Given the description of an element on the screen output the (x, y) to click on. 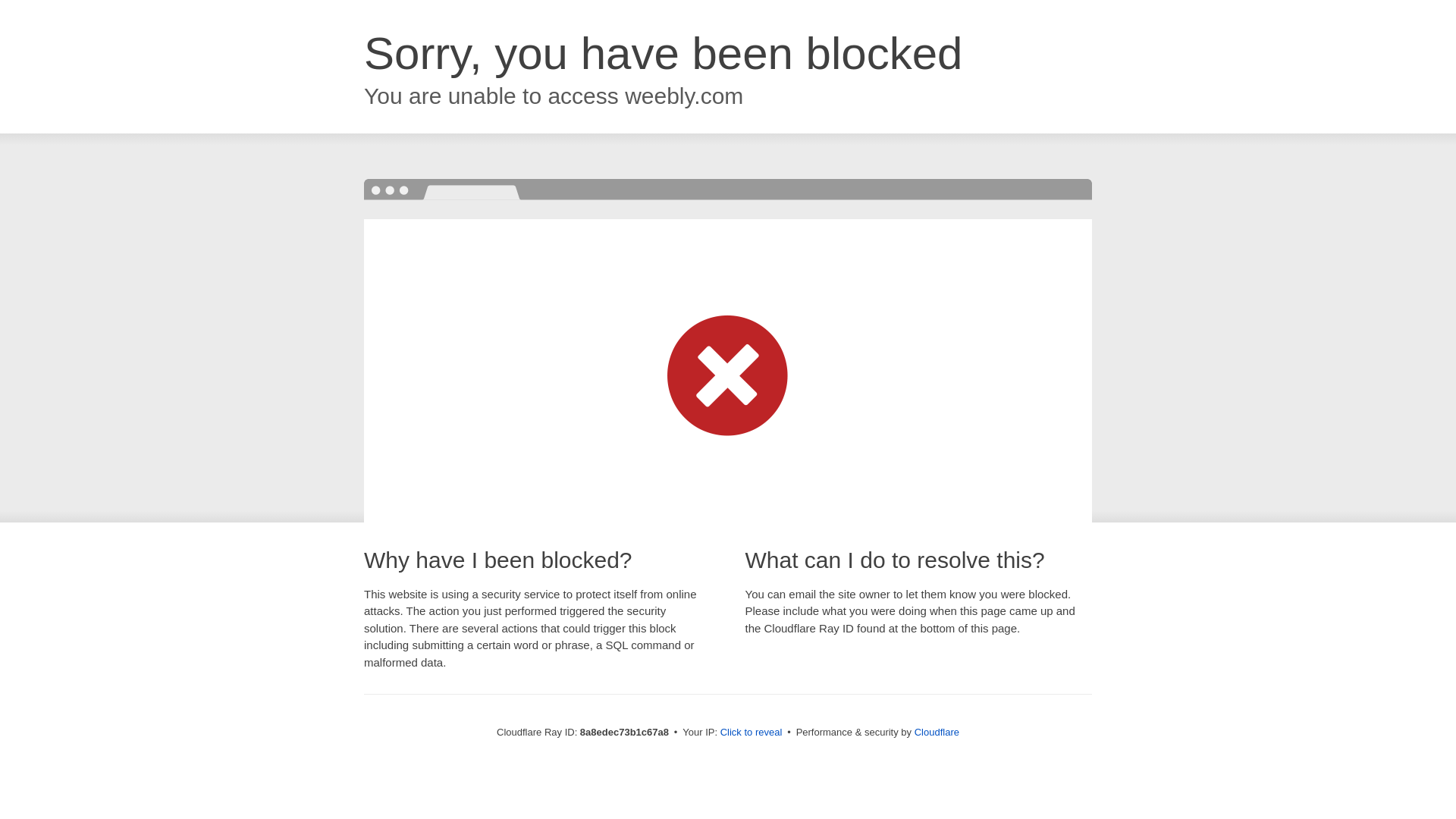
Click to reveal (751, 732)
Cloudflare (936, 731)
